Given the description of an element on the screen output the (x, y) to click on. 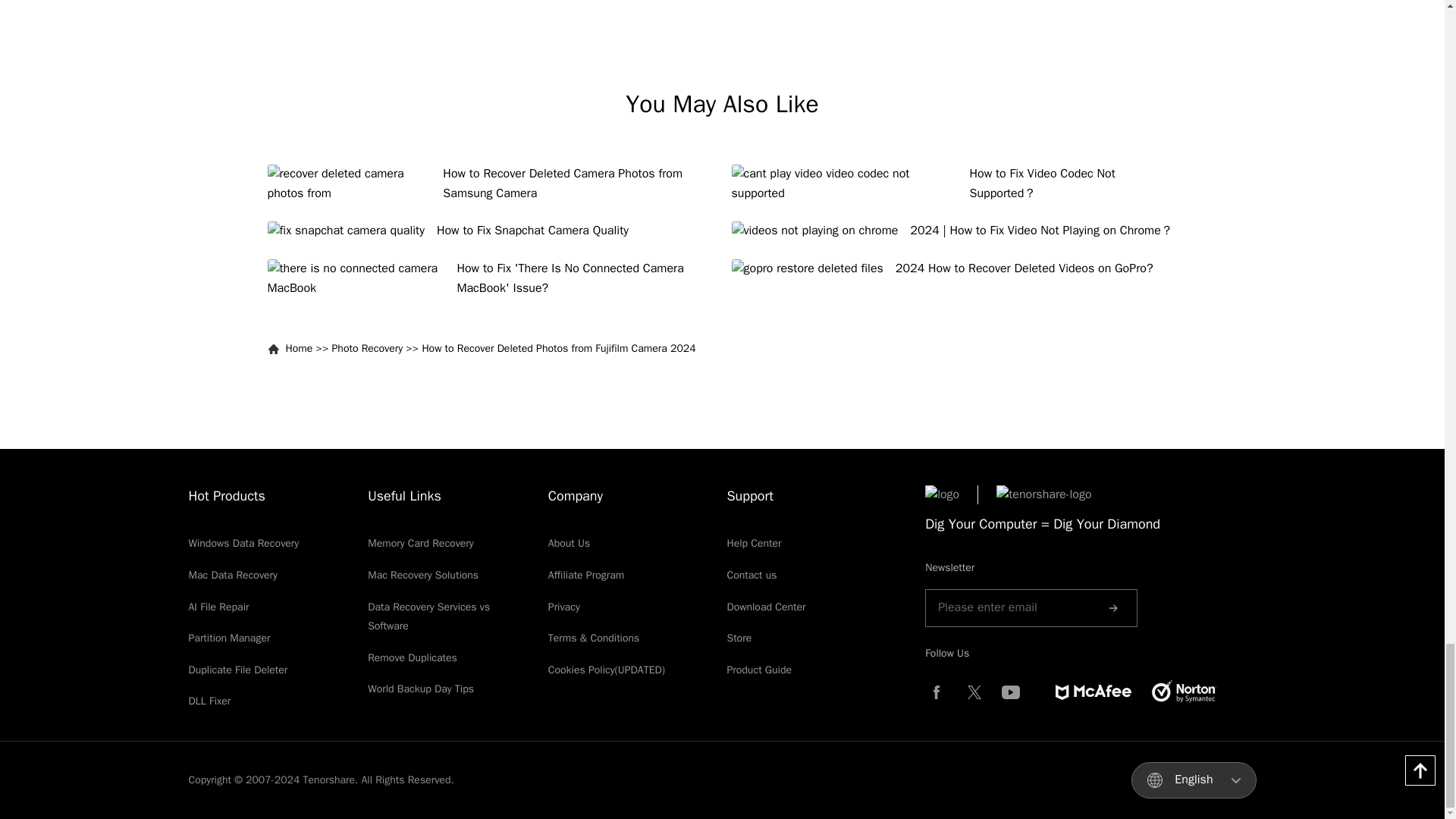
DLL Fixer (208, 700)
2024 How to Recover Deleted Videos on GoPro? (953, 269)
remove duplicate (412, 657)
4DDiG Partition Manager (228, 637)
Windows Data Recovery (242, 543)
memory card recovery (421, 543)
How to Fix Snapchat Camera Quality  (489, 230)
How to Fix 'There Is No Connected Camera MacBook' Issue? (489, 278)
Duplicate File Deleter (236, 669)
Mac Recovery Solutions (423, 574)
How to Recover Deleted Camera Photos from Samsung Camera (489, 183)
Mac Data Recovery (231, 574)
AI File Repair (217, 606)
